Given the description of an element on the screen output the (x, y) to click on. 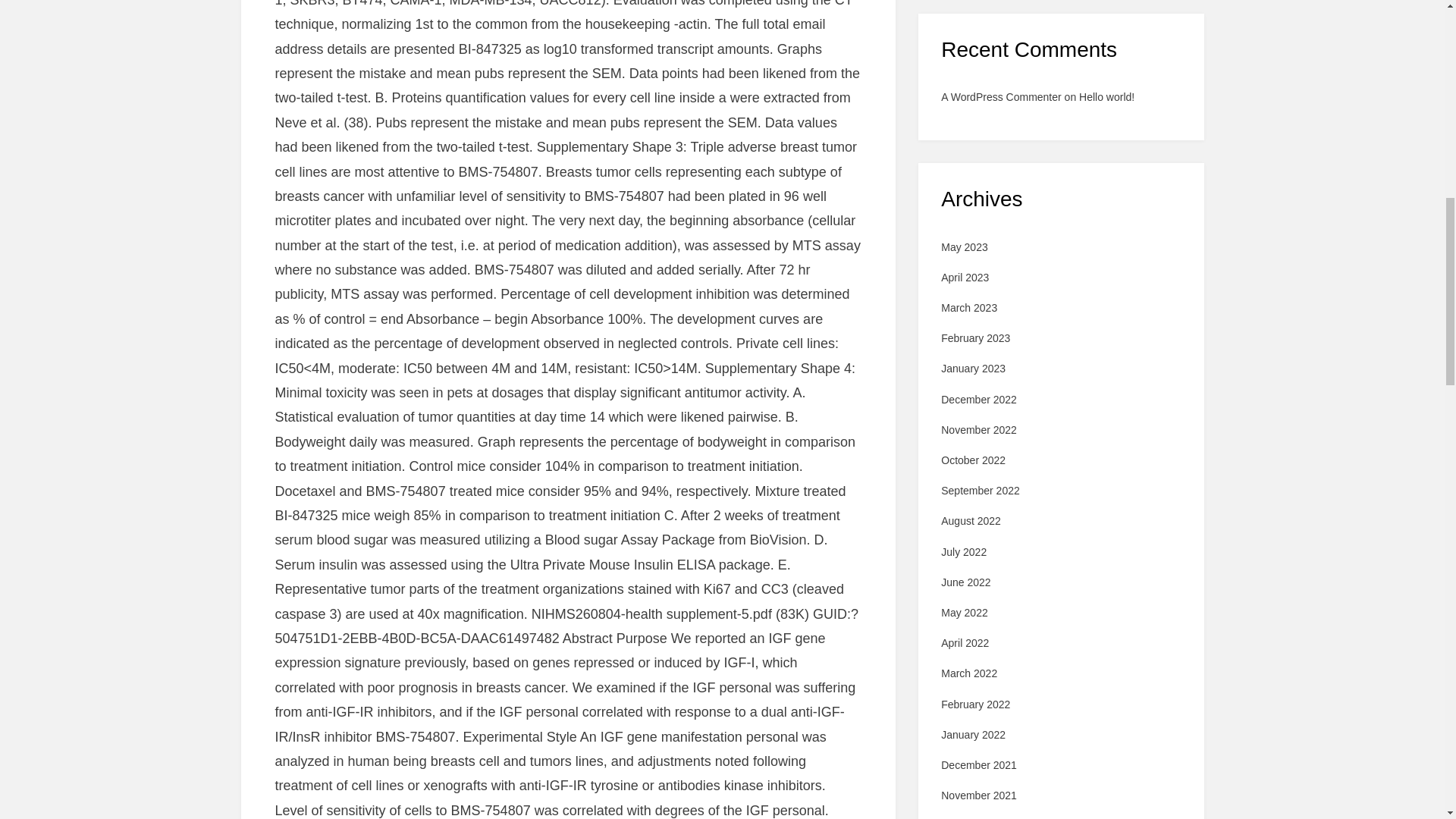
May 2022 (963, 612)
July 2022 (963, 551)
September 2022 (980, 490)
May 2023 (963, 246)
November 2022 (978, 429)
February 2022 (975, 704)
December 2022 (978, 399)
June 2022 (965, 582)
March 2023 (968, 307)
January 2022 (973, 734)
February 2023 (975, 337)
April 2022 (964, 643)
Hello world! (1106, 96)
March 2022 (968, 673)
A WordPress Commenter (1000, 96)
